Given the description of an element on the screen output the (x, y) to click on. 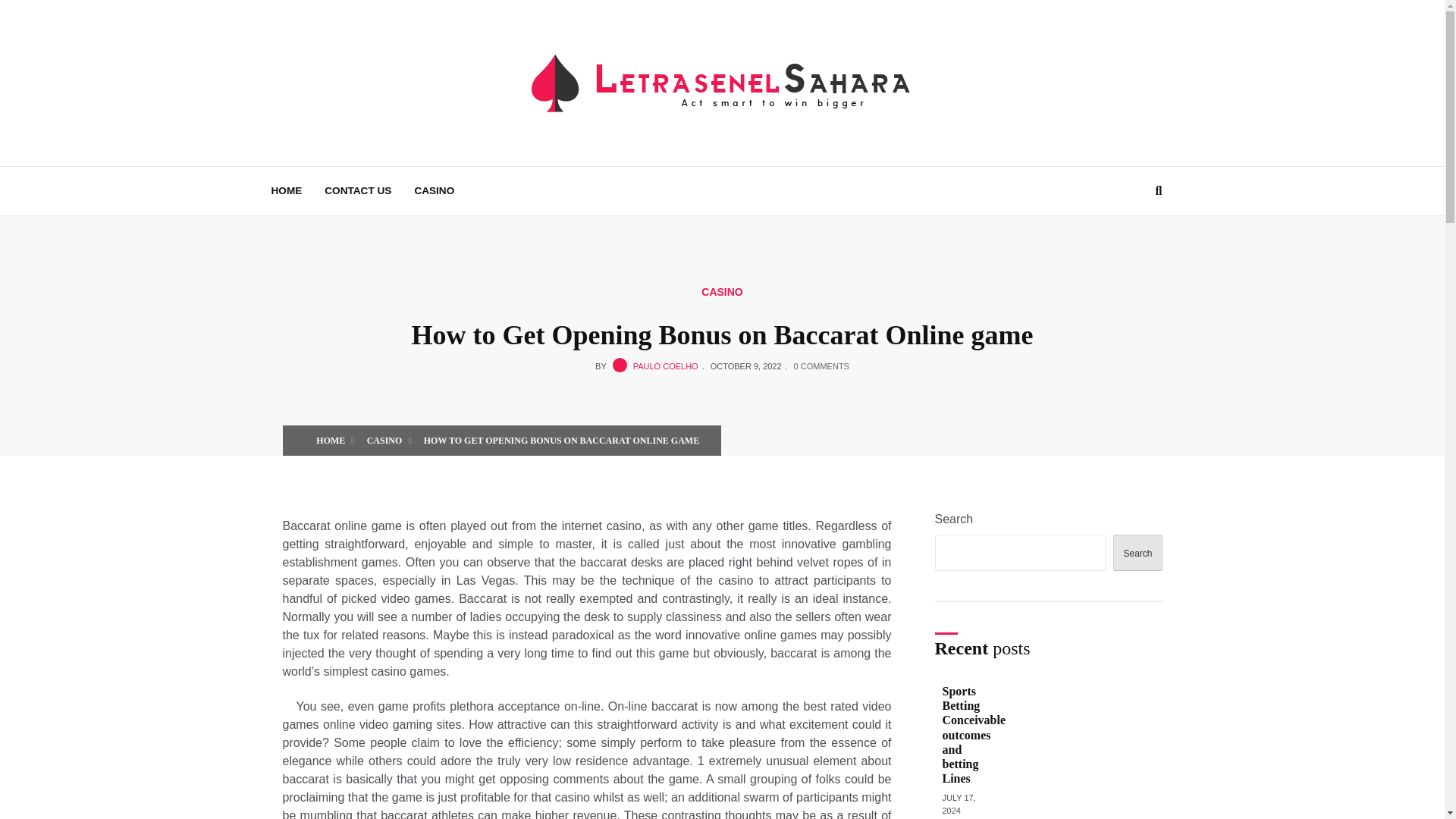
CASINO (434, 191)
CASINO (384, 439)
CONTACT US (358, 191)
Search (1137, 552)
CASINO (721, 291)
HOME (330, 439)
PAULO COELHO (665, 366)
HOME (286, 191)
0 COMMENTS (820, 366)
